Given the description of an element on the screen output the (x, y) to click on. 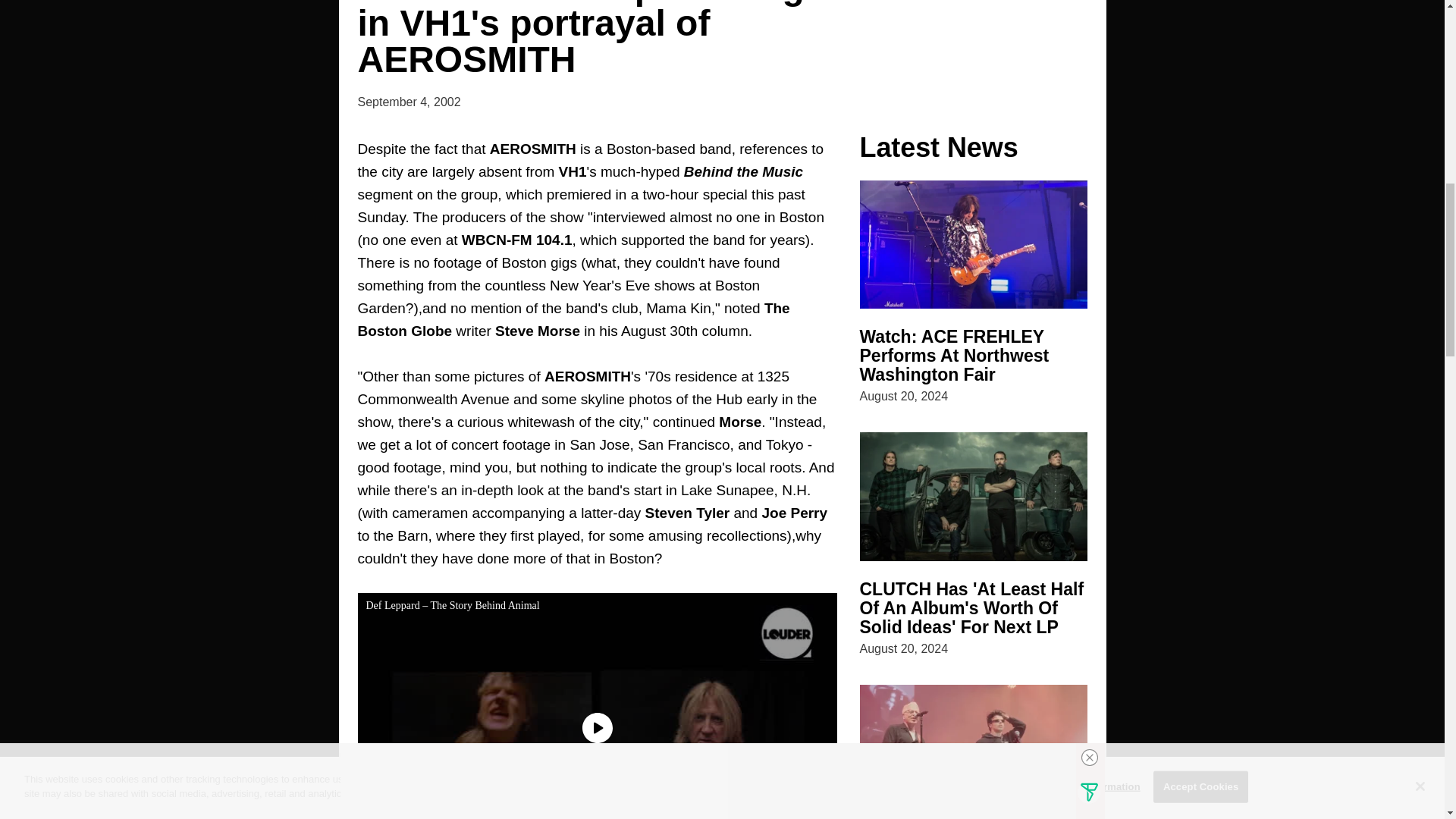
Watch: ACE FREHLEY Performs At Northwest Washington Fair (954, 355)
3rd party ad content (973, 44)
